Given the description of an element on the screen output the (x, y) to click on. 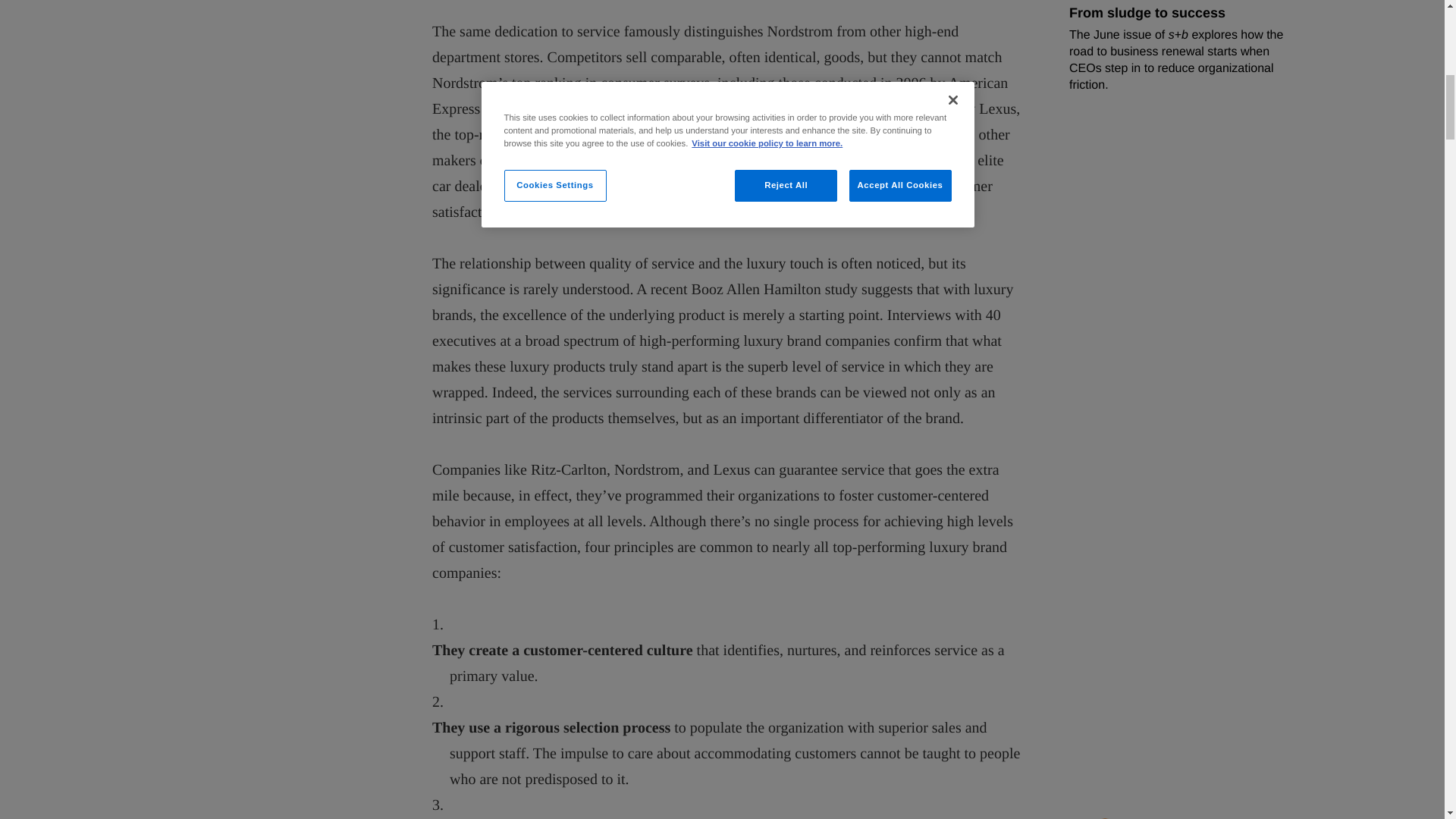
Illustration of flying birds delivering information (1067, 74)
